Given the description of an element on the screen output the (x, y) to click on. 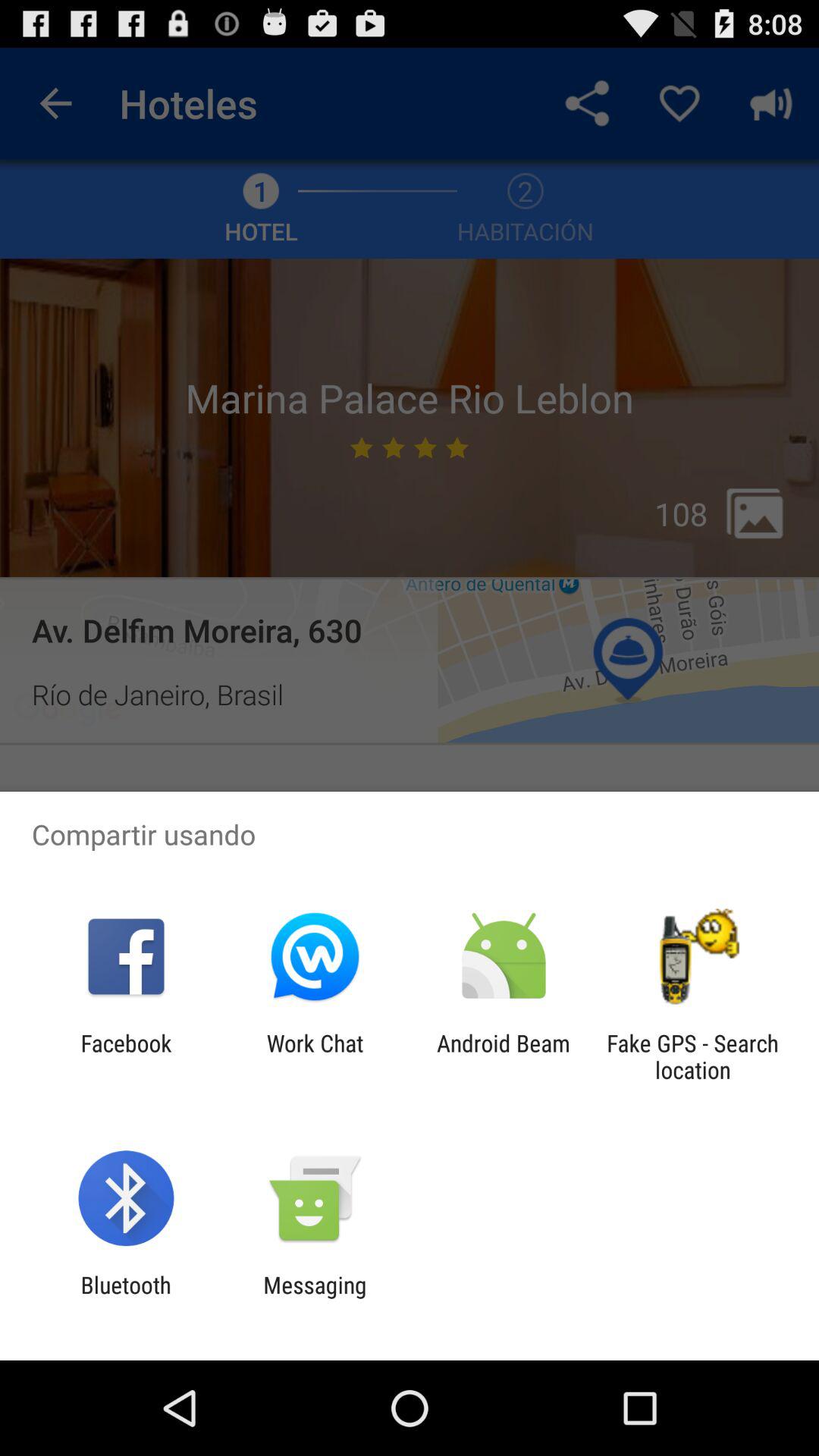
launch item next to the android beam (692, 1056)
